Given the description of an element on the screen output the (x, y) to click on. 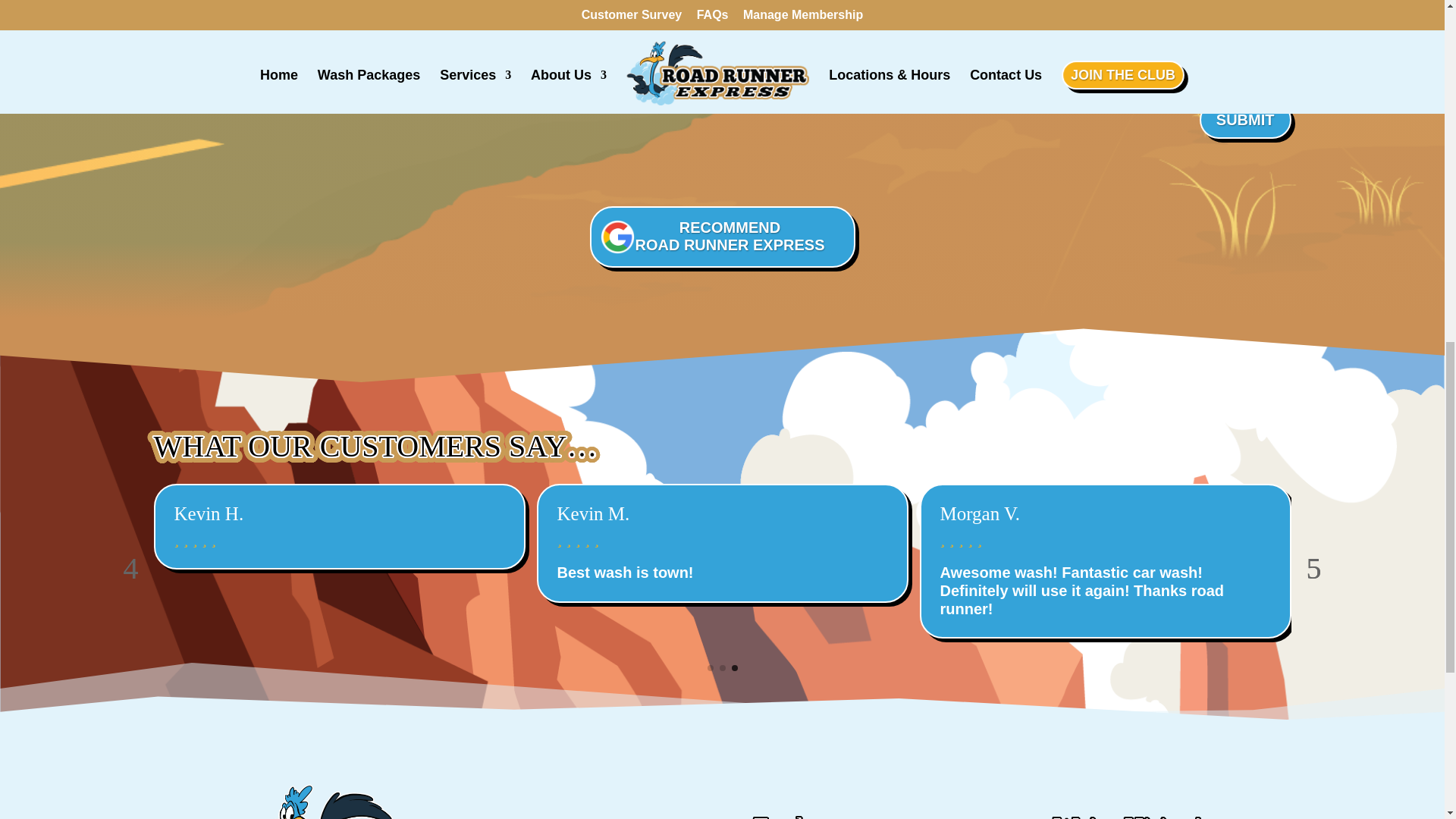
Write us a Google Review (722, 237)
SUBMIT (1245, 119)
road-runner-logo (722, 237)
